Given the description of an element on the screen output the (x, y) to click on. 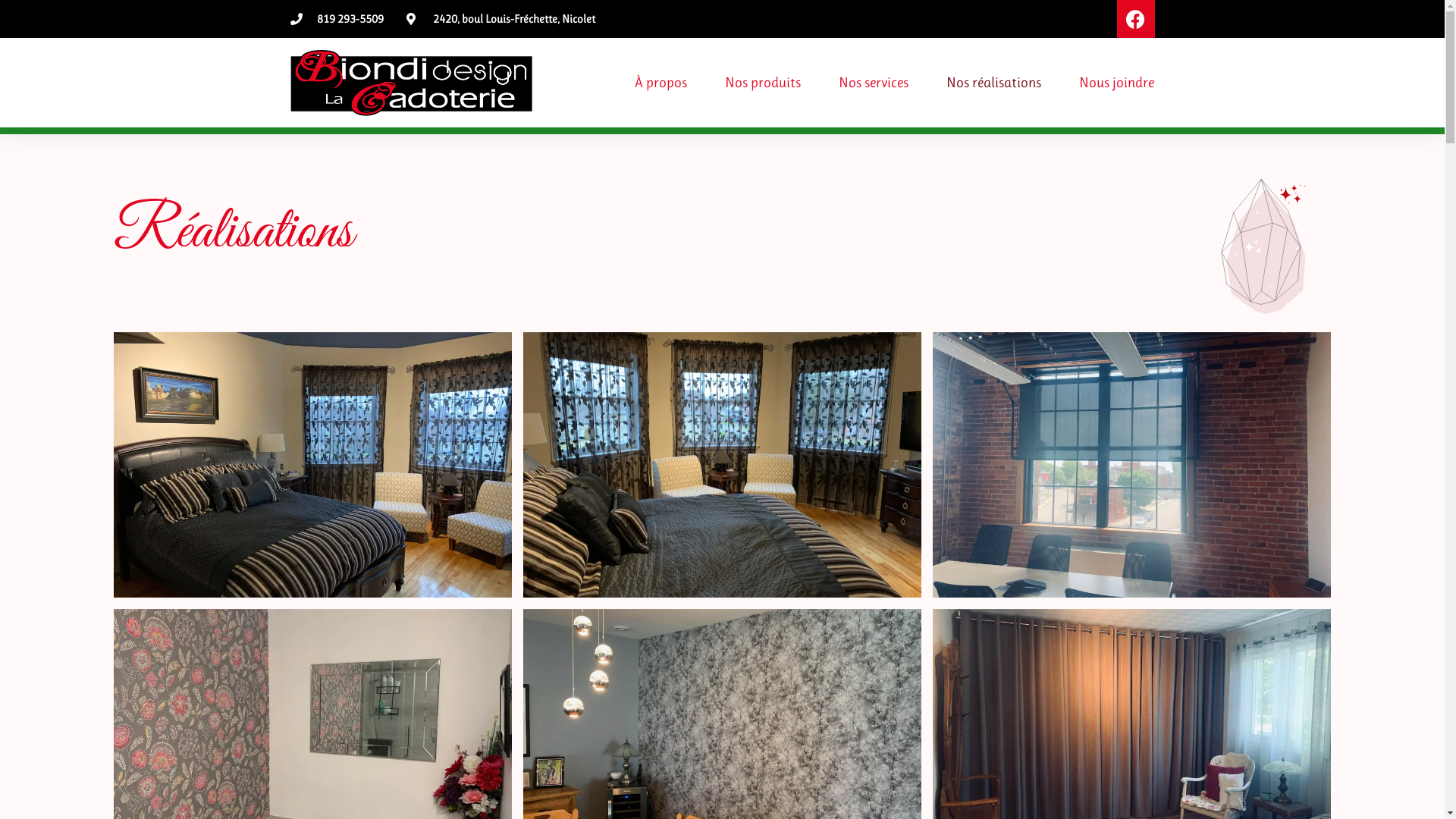
Nous joindre Element type: text (1116, 82)
Facebook Element type: text (1135, 18)
Nos produits Element type: text (762, 82)
Nos services Element type: text (873, 82)
819 293-5509 Element type: text (335, 18)
